Given the description of an element on the screen output the (x, y) to click on. 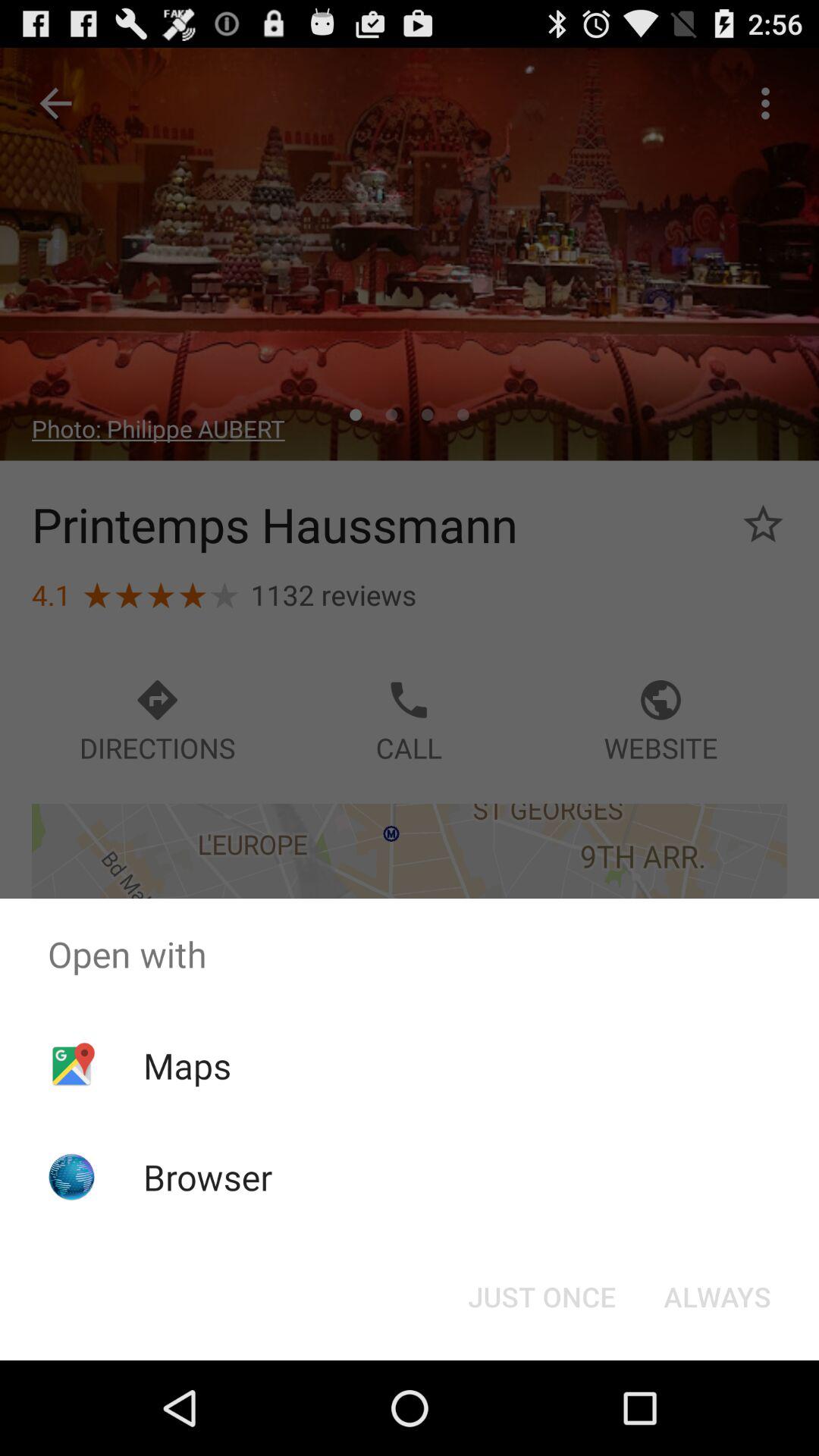
click the icon below the open with app (187, 1065)
